Given the description of an element on the screen output the (x, y) to click on. 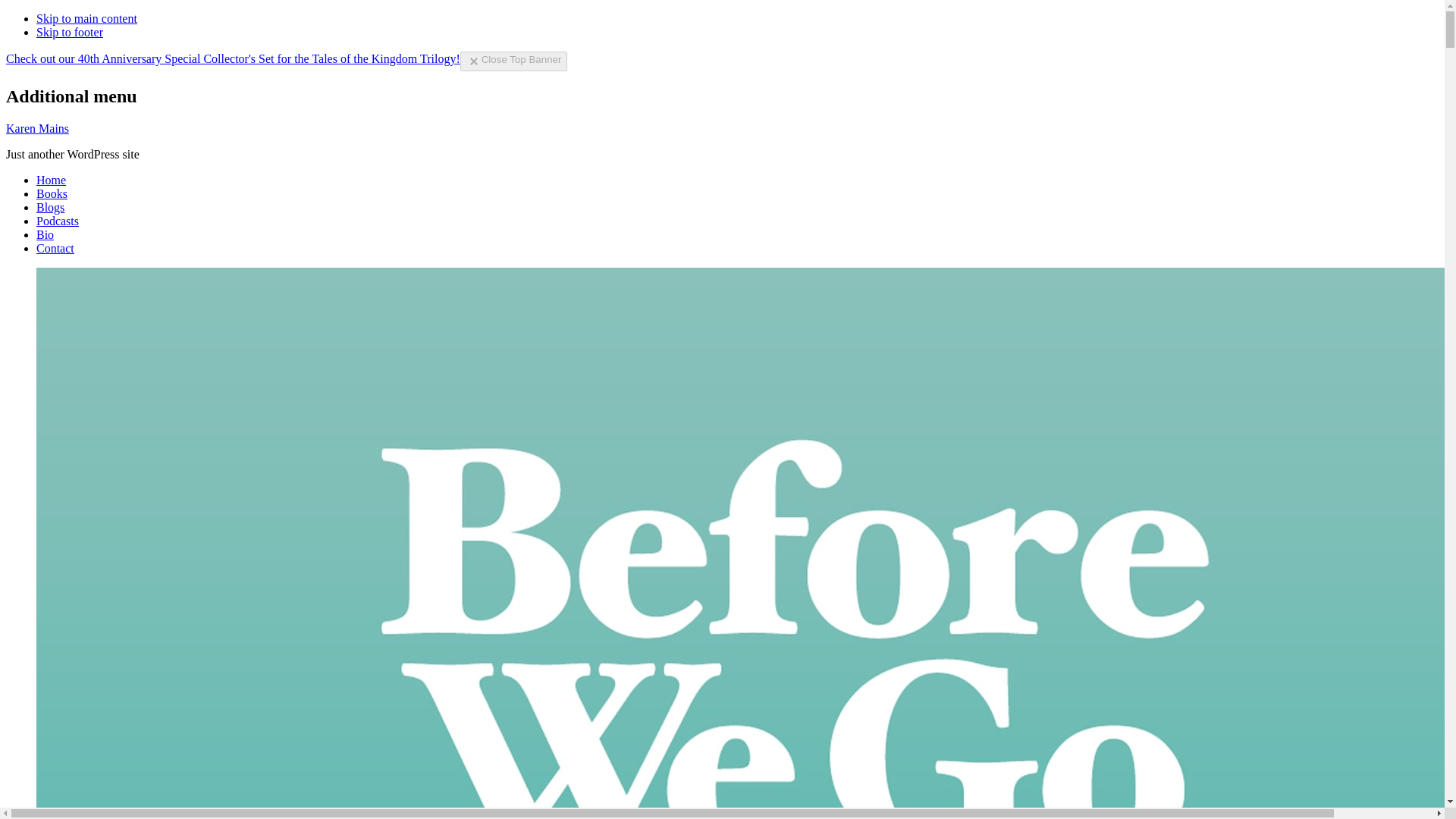
Skip to footer (69, 31)
Podcasts (57, 220)
Close Top Banner (513, 61)
Karen Mains (36, 128)
Skip to main content (86, 18)
Bio (44, 234)
Books (51, 193)
Blogs (50, 206)
Home (50, 179)
Contact (55, 247)
